Given the description of an element on the screen output the (x, y) to click on. 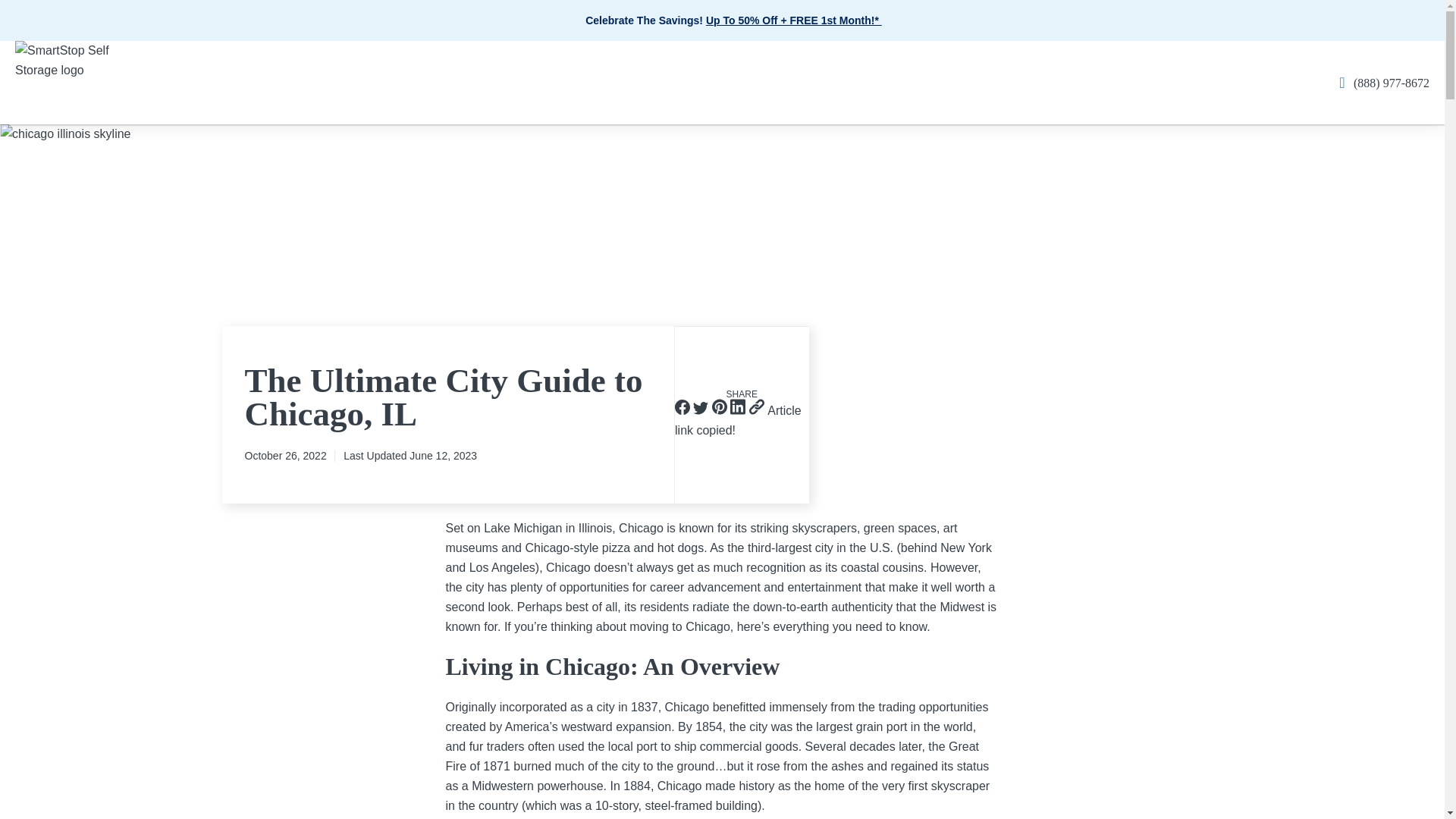
Homepage (73, 74)
Find Storage (794, 20)
